Given the description of an element on the screen output the (x, y) to click on. 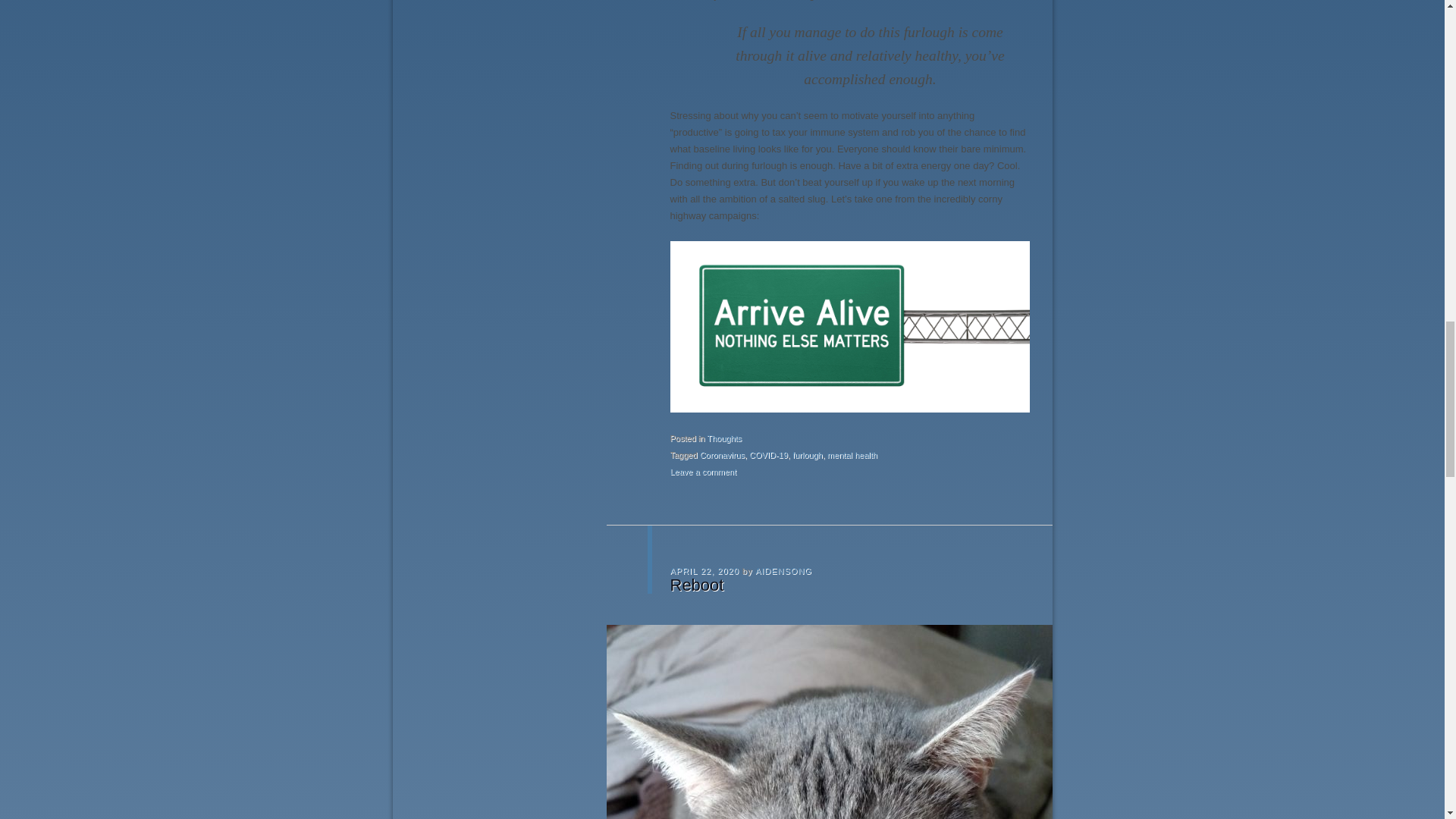
APRIL 22, 2020 (704, 570)
furlough (807, 454)
COVID-19 (768, 454)
Thoughts (723, 438)
Coronavirus (722, 454)
7:35 pm (704, 570)
Leave a comment (702, 470)
Reboot (696, 584)
View all posts by aidensong (783, 570)
mental health (852, 454)
